Given the description of an element on the screen output the (x, y) to click on. 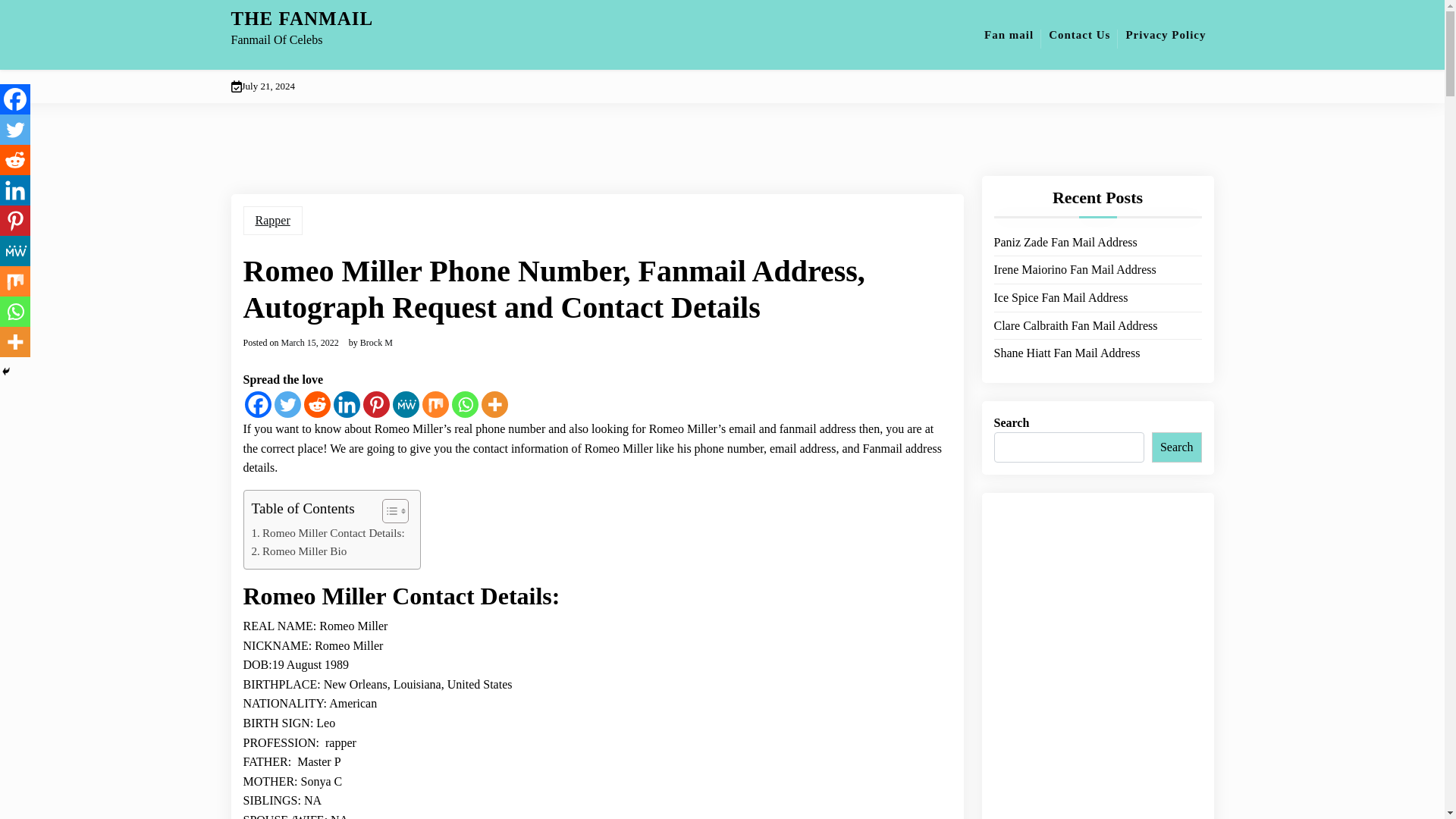
Pinterest (375, 404)
Mix (435, 404)
Rapper (272, 220)
Brock M (376, 342)
Fan mail (1008, 34)
March 15, 2022 (310, 342)
Romeo Miller Contact Details: (327, 533)
Whatsapp (465, 404)
Contact Us (1079, 34)
Twitter (288, 404)
More (493, 404)
Privacy Policy (1165, 34)
Romeo Miller Bio (299, 551)
Facebook (257, 404)
